Given the description of an element on the screen output the (x, y) to click on. 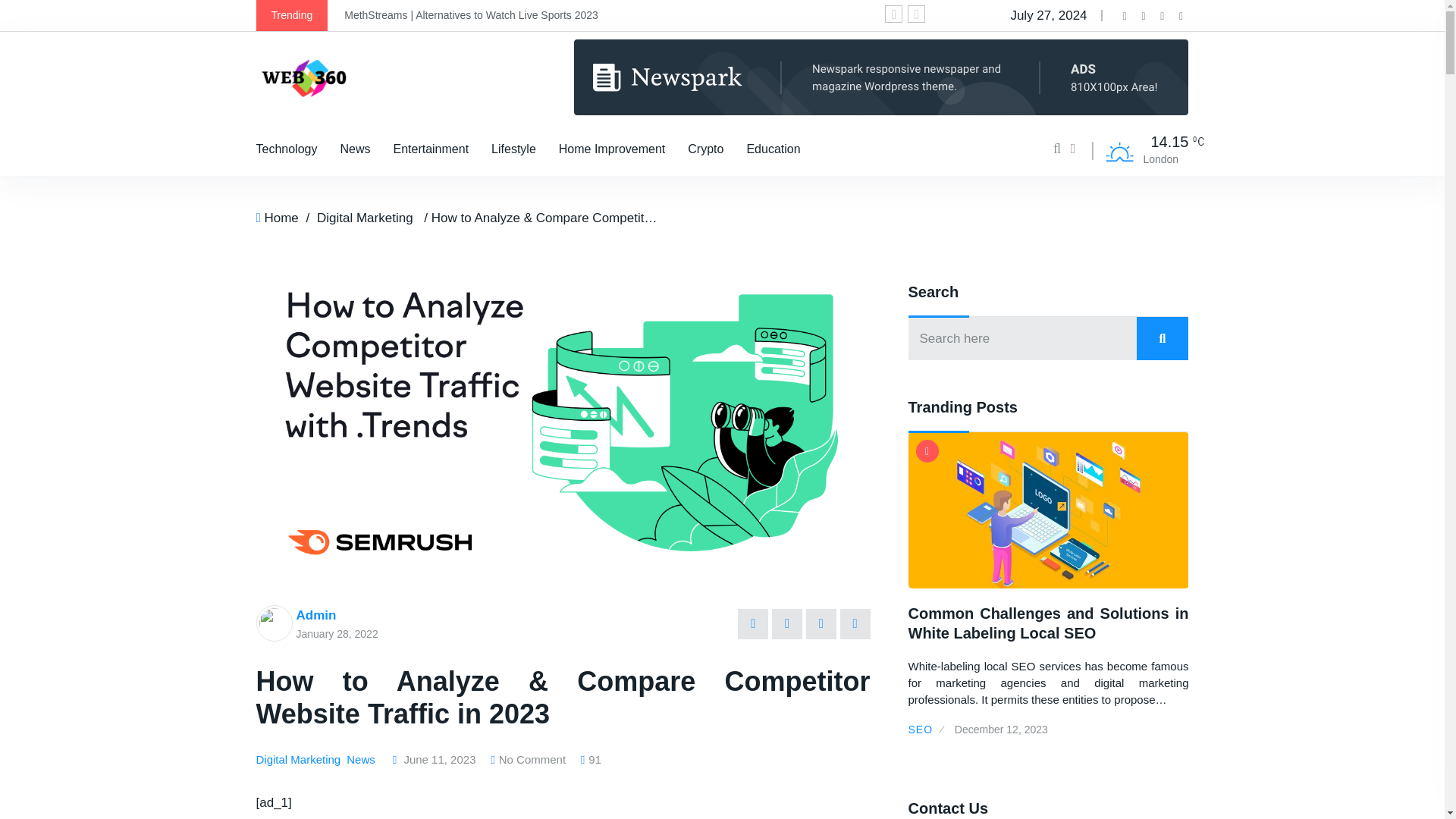
News (355, 149)
Technology (286, 149)
Entertainment (430, 149)
